Given the description of an element on the screen output the (x, y) to click on. 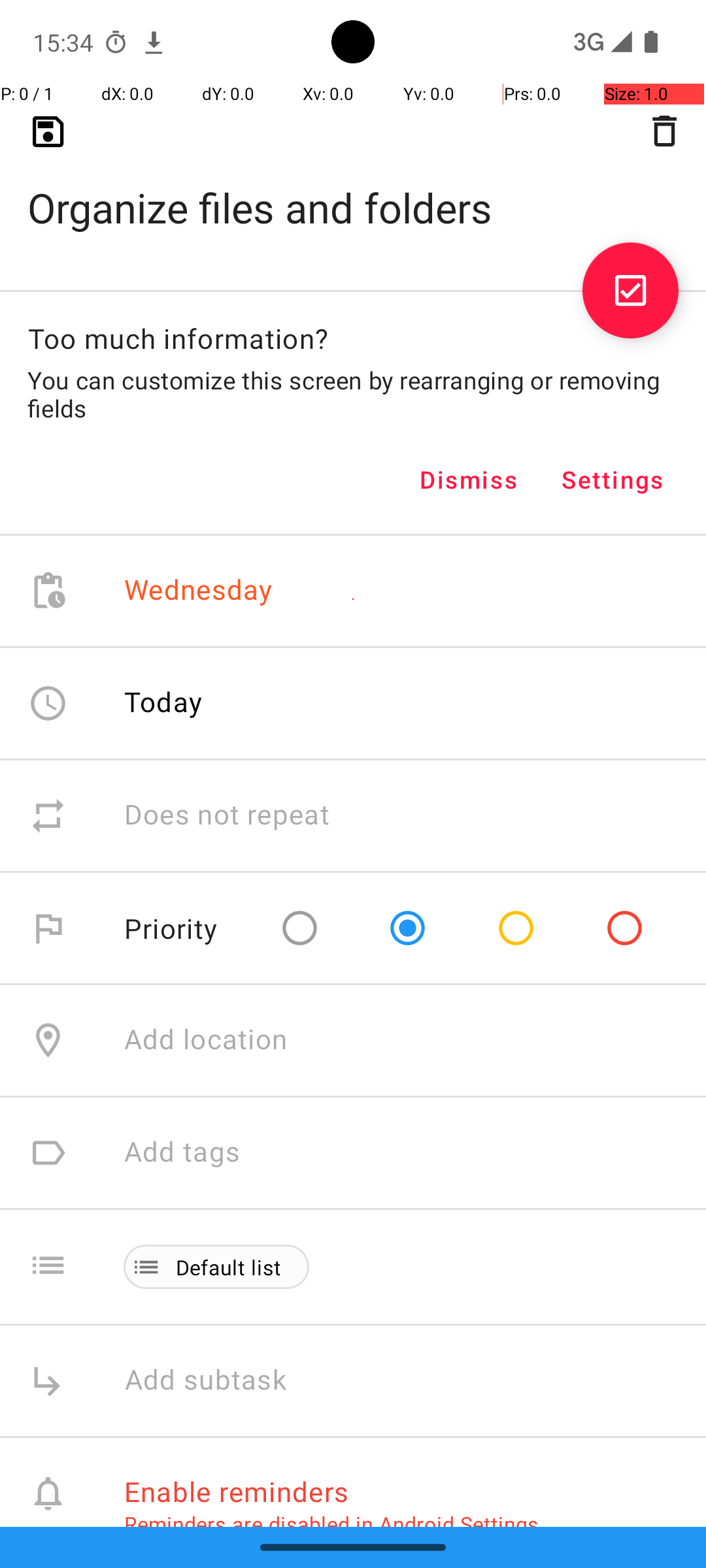
Organize files and folders Element type: android.widget.EditText (353, 186)
